Given the description of an element on the screen output the (x, y) to click on. 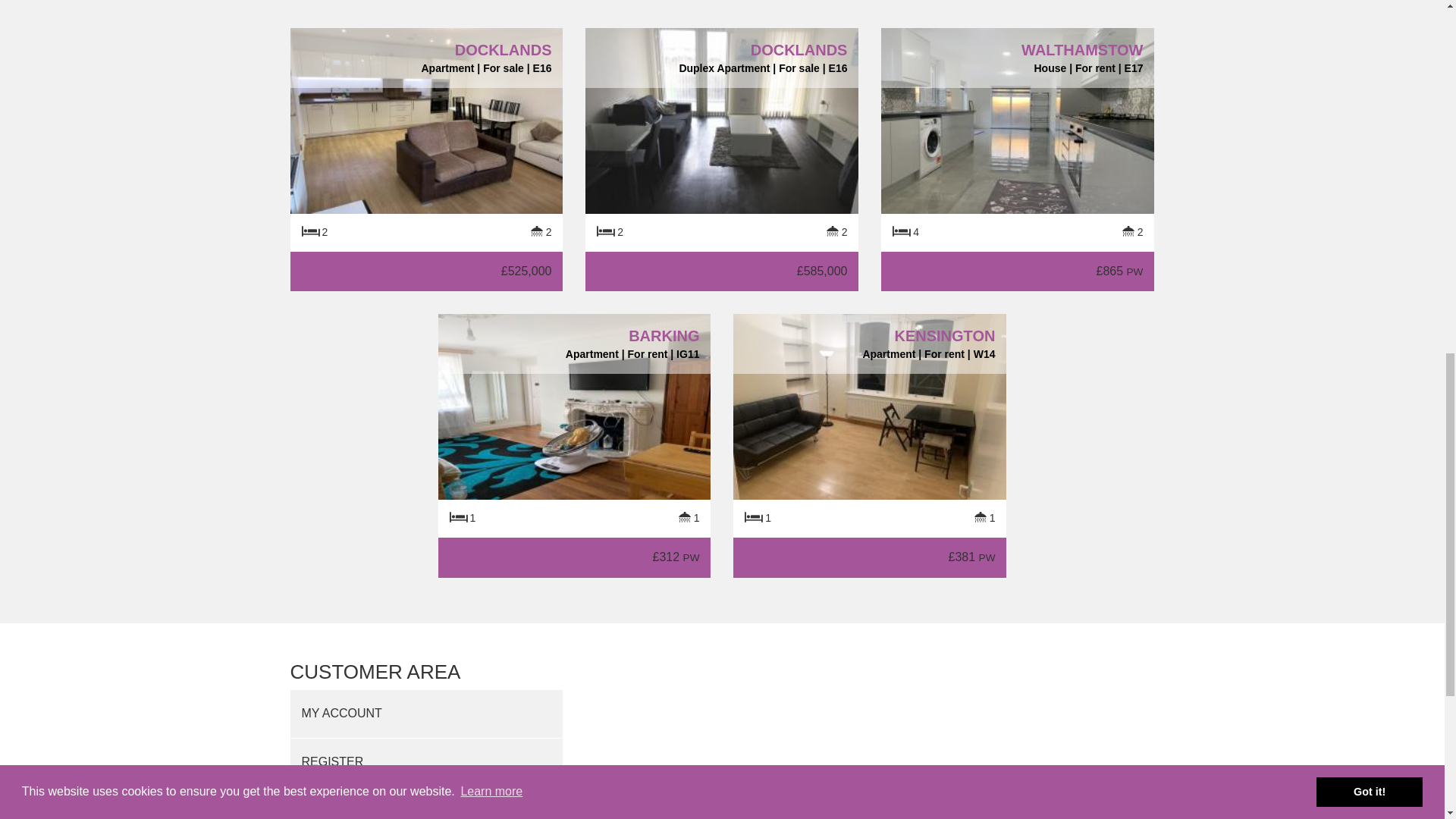
REGISTER (425, 762)
VALUATION (425, 803)
MY ACCOUNT (425, 713)
